Given the description of an element on the screen output the (x, y) to click on. 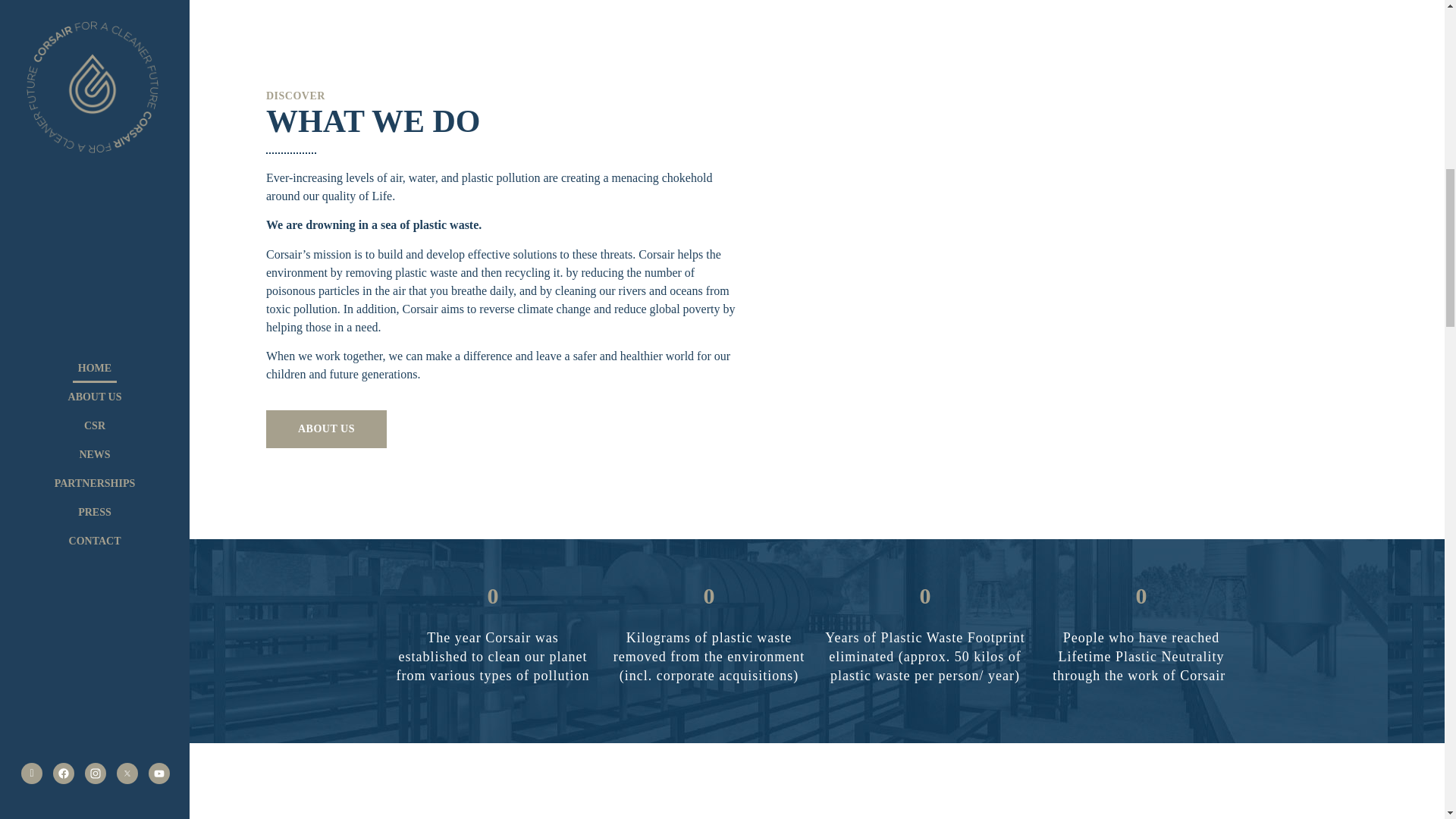
ABOUT US (326, 428)
